Given the description of an element on the screen output the (x, y) to click on. 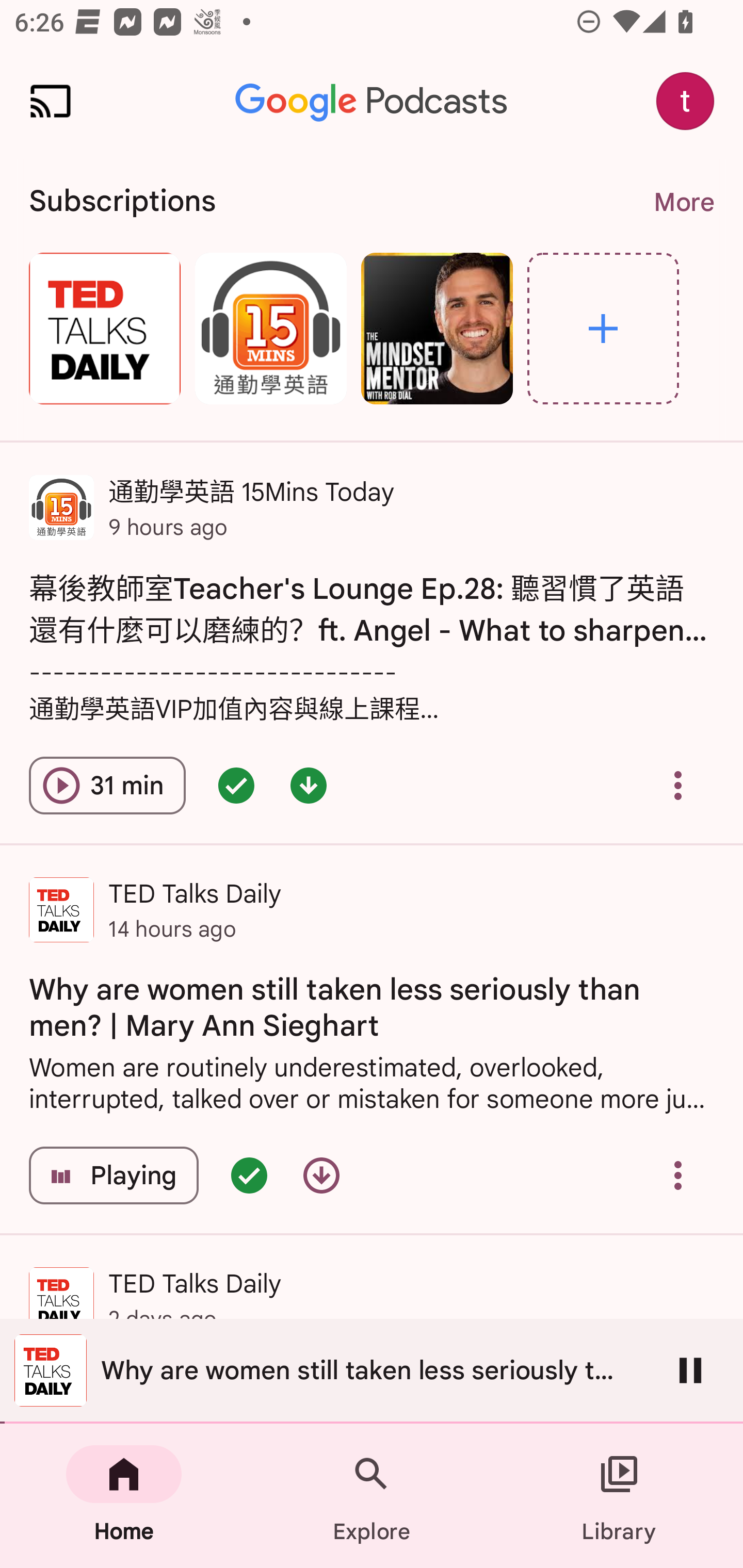
Cast. Disconnected (50, 101)
More More. Navigate to subscriptions page. (683, 202)
TED Talks Daily (104, 328)
通勤學英語 15Mins Today (270, 328)
The Mindset Mentor (436, 328)
Explore (603, 328)
Episode queued - double tap for options (235, 785)
Episode downloaded - double tap for options (308, 785)
Overflow menu (677, 785)
Episode queued - double tap for options (249, 1175)
Download episode (321, 1175)
Overflow menu (677, 1175)
Pause (690, 1370)
Explore (371, 1495)
Library (619, 1495)
